Given the description of an element on the screen output the (x, y) to click on. 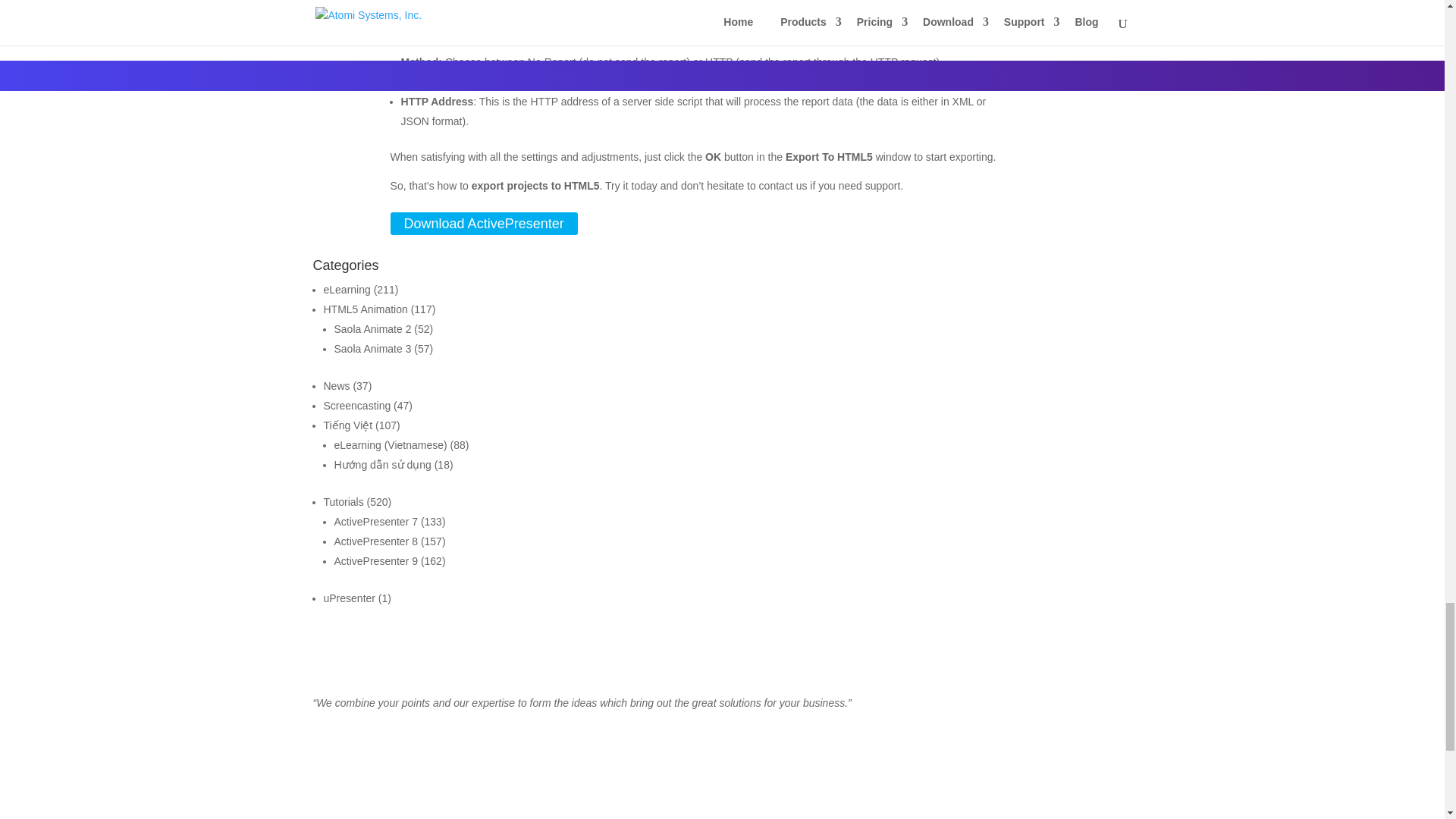
eLearning (346, 289)
Saola Animate 3 (371, 348)
Saola Animate 2 (371, 328)
HTML5 Animation (365, 309)
Download ActivePresenter (484, 223)
News (336, 386)
